Given the description of an element on the screen output the (x, y) to click on. 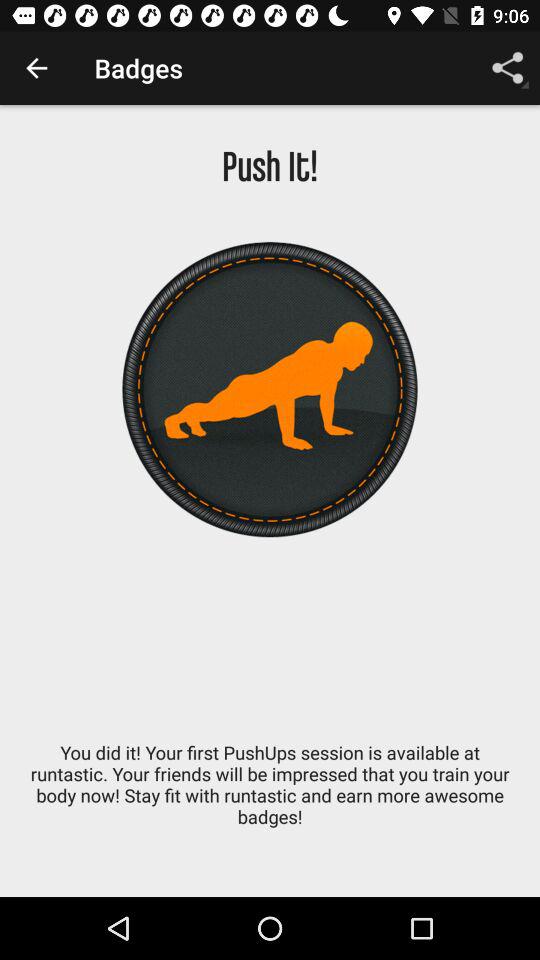
choose the you did it (270, 795)
